Given the description of an element on the screen output the (x, y) to click on. 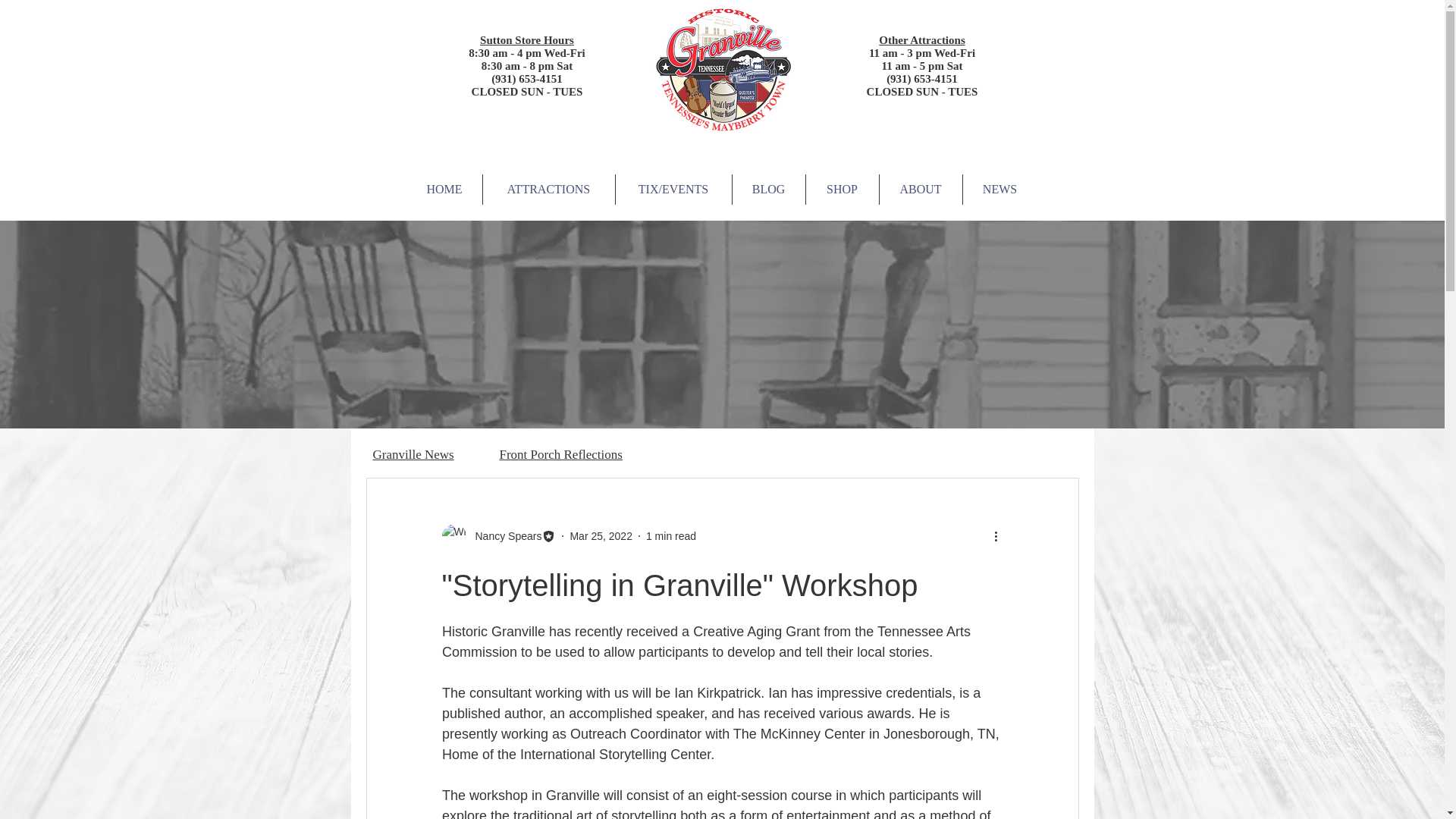
HOME (443, 189)
1 min read (670, 535)
SHOP (841, 189)
Nancy Spears (503, 535)
Mar 25, 2022 (600, 535)
Nancy Spears (498, 535)
BLOG (768, 189)
NEWS (999, 189)
